Given the description of an element on the screen output the (x, y) to click on. 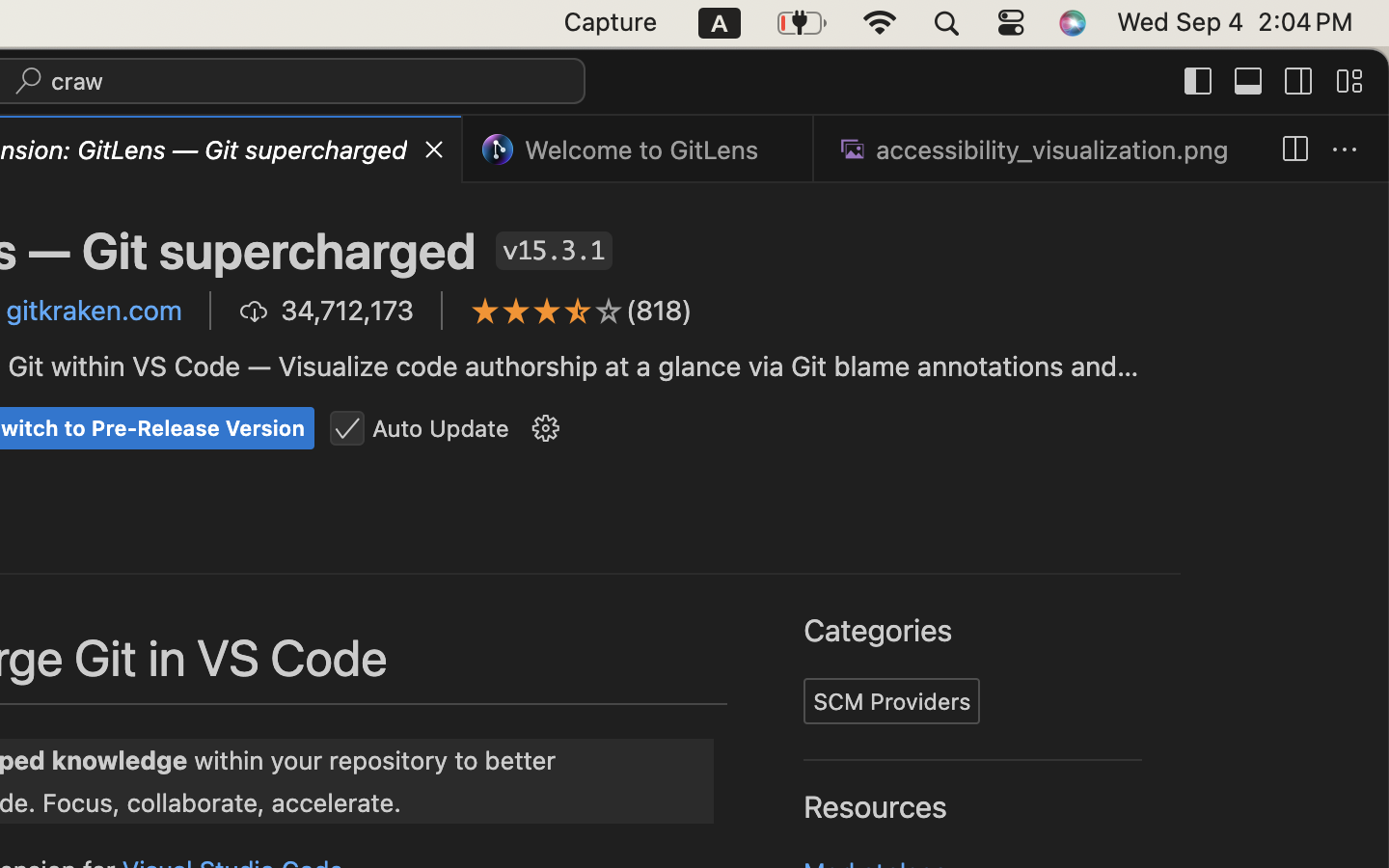
, and highly Element type: AXStaticText (1160, 422)
gitkraken.com Element type: AXStaticText (94, 310)
 Element type: AXCheckBox (1248, 80)
v15.3.1 Element type: AXStaticText (554, 250)
trial or paid plan Element type: AXStaticText (434, 563)
